Given the description of an element on the screen output the (x, y) to click on. 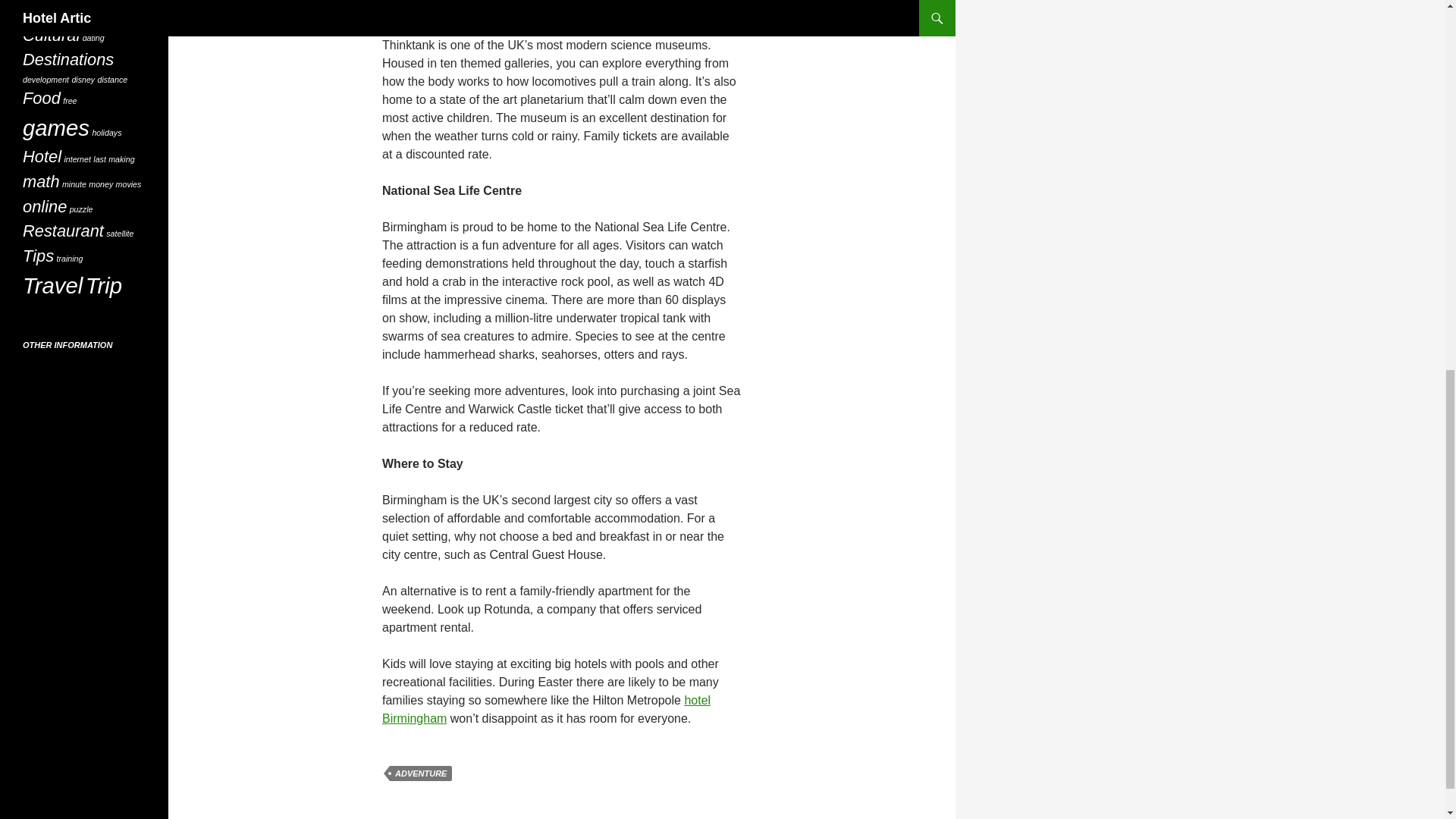
hotel Birmingham (545, 708)
ADVENTURE (420, 773)
